Given the description of an element on the screen output the (x, y) to click on. 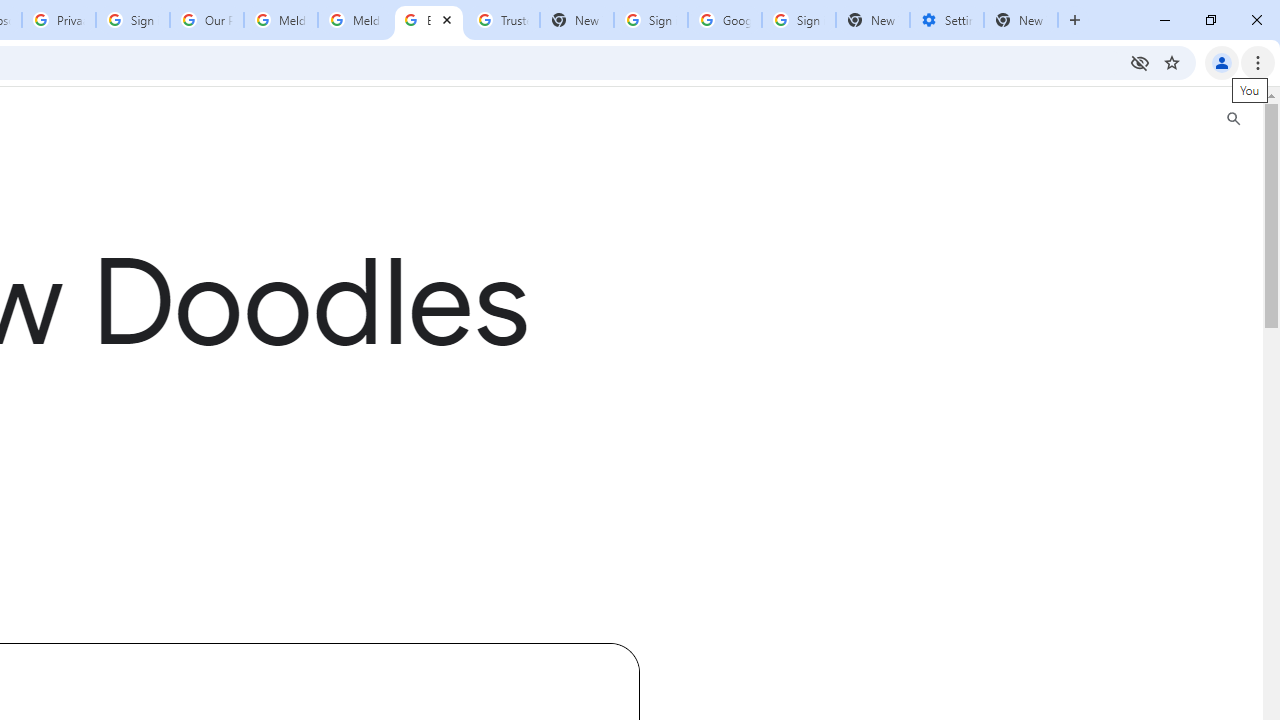
Trusted Information and Content - Google Safety Center (502, 20)
New Tab (1021, 20)
Settings - Addresses and more (947, 20)
Sign in - Google Accounts (651, 20)
Sign in - Google Accounts (798, 20)
